Given the description of an element on the screen output the (x, y) to click on. 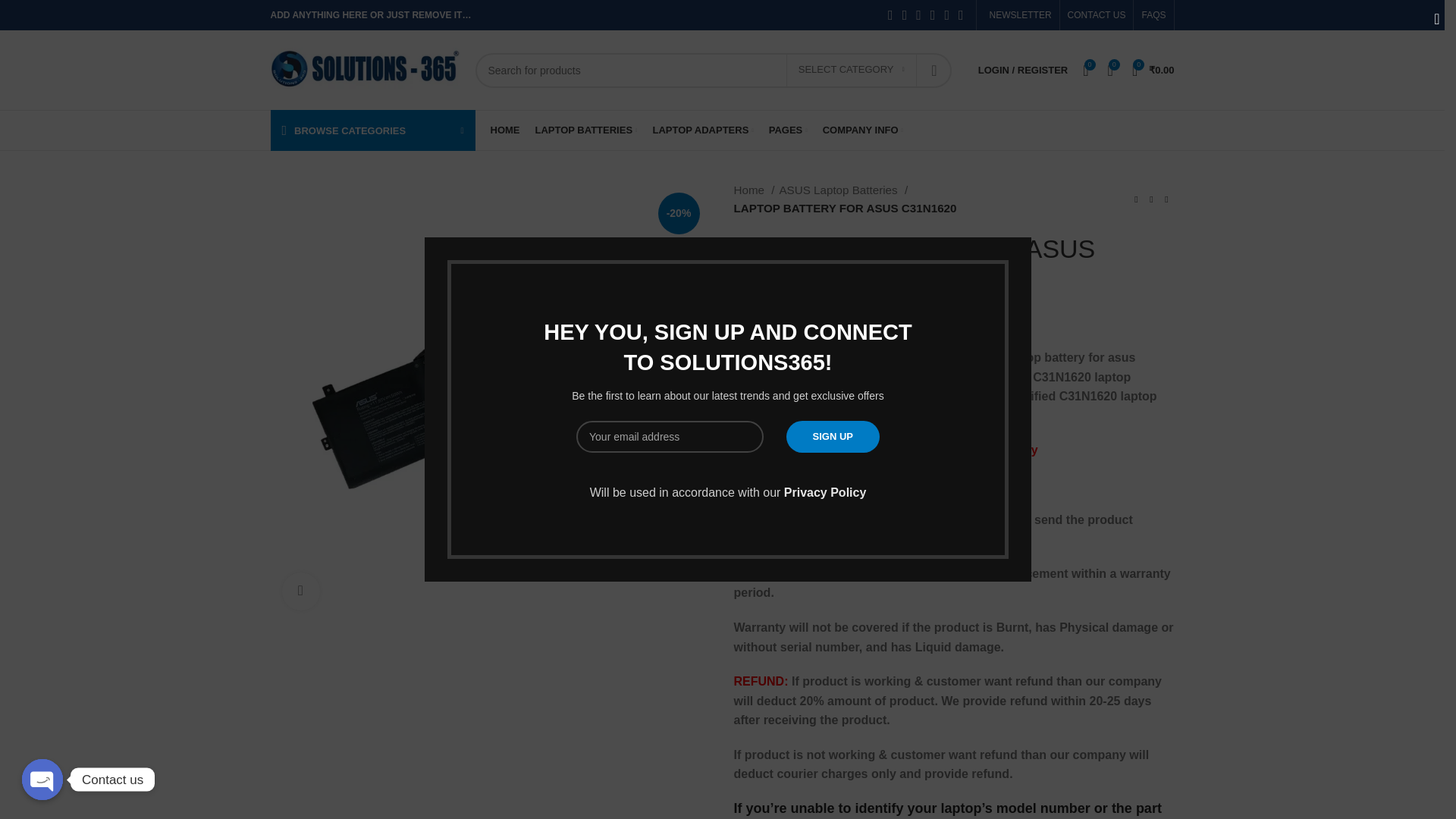
Shopping cart (1153, 69)
SELECT CATEGORY (851, 70)
CONTACT US (1096, 15)
Sign up (832, 436)
NEWSLETTER (1017, 15)
Sign up (832, 436)
My account (1023, 69)
Privacy Policy (825, 492)
Search for products (712, 70)
SELECT CATEGORY (851, 70)
